Given the description of an element on the screen output the (x, y) to click on. 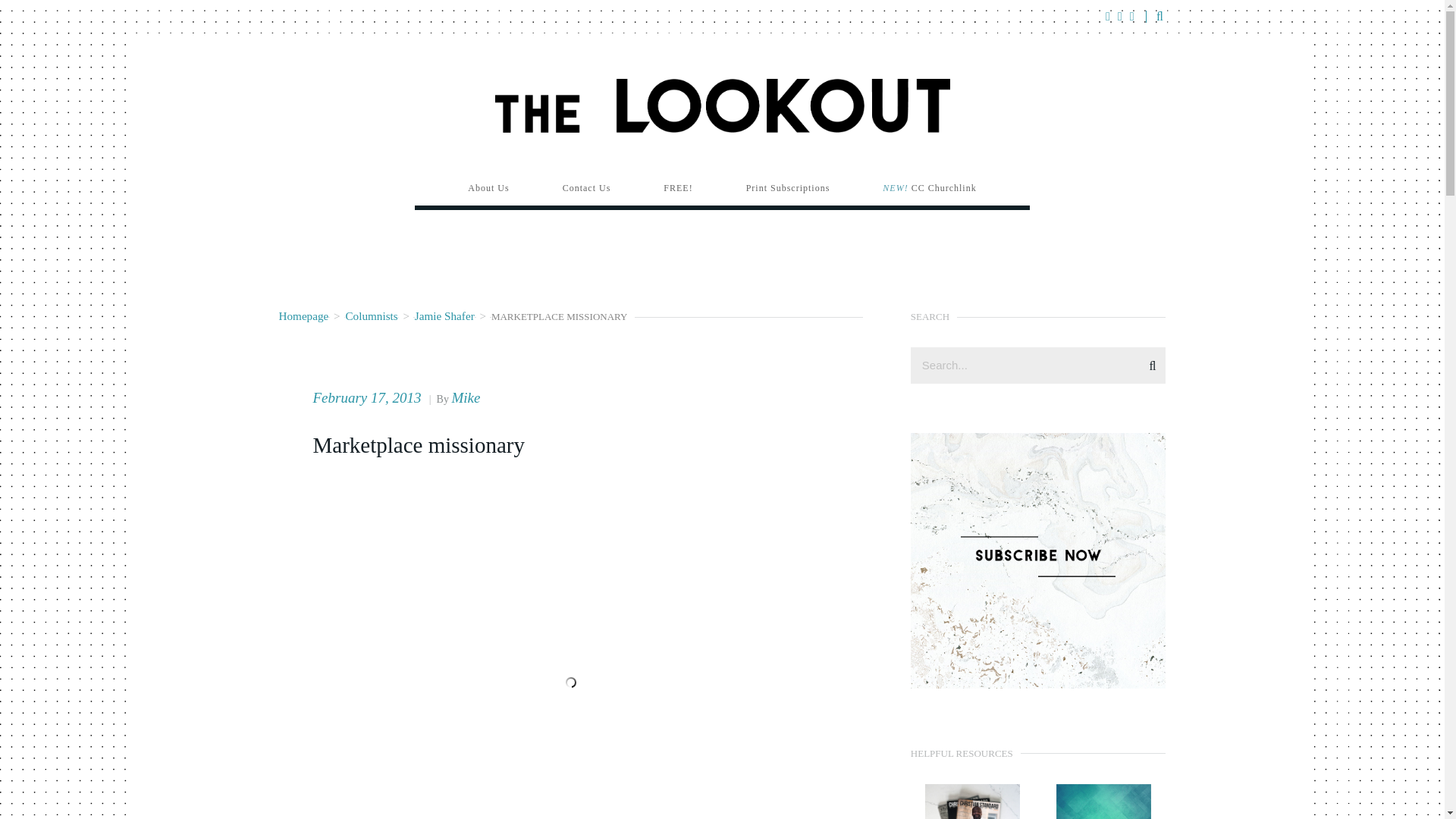
Mike (465, 397)
Posts by Mike (465, 397)
Columnists (371, 315)
NEW! CC Churchlink (928, 187)
About Us (487, 187)
Homepage (304, 315)
Print Subscriptions (787, 187)
February 17, 2013 (369, 397)
Contact Us (586, 187)
Jamie Shafer (444, 315)
